Given the description of an element on the screen output the (x, y) to click on. 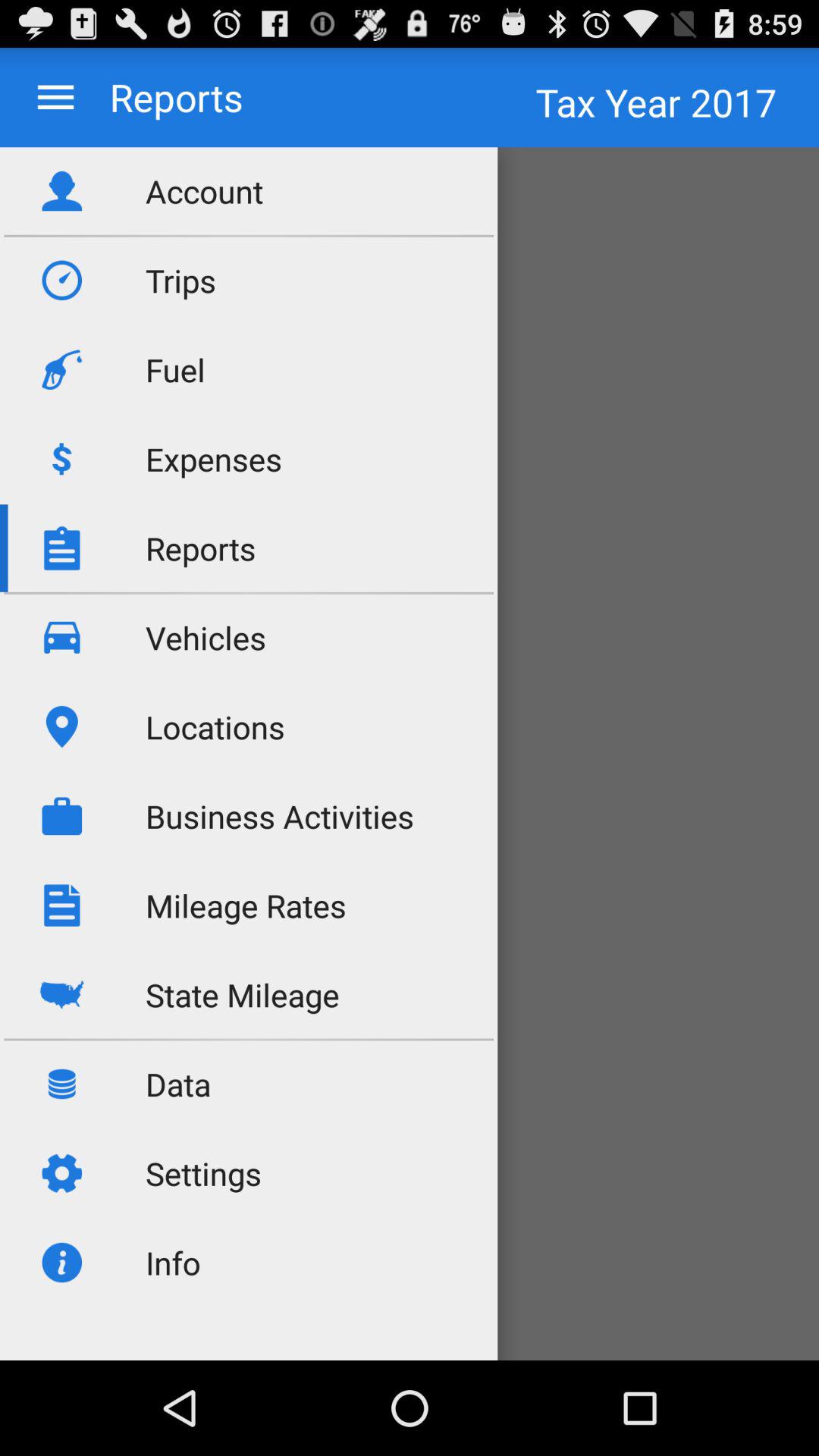
close the menu list (55, 97)
